Given the description of an element on the screen output the (x, y) to click on. 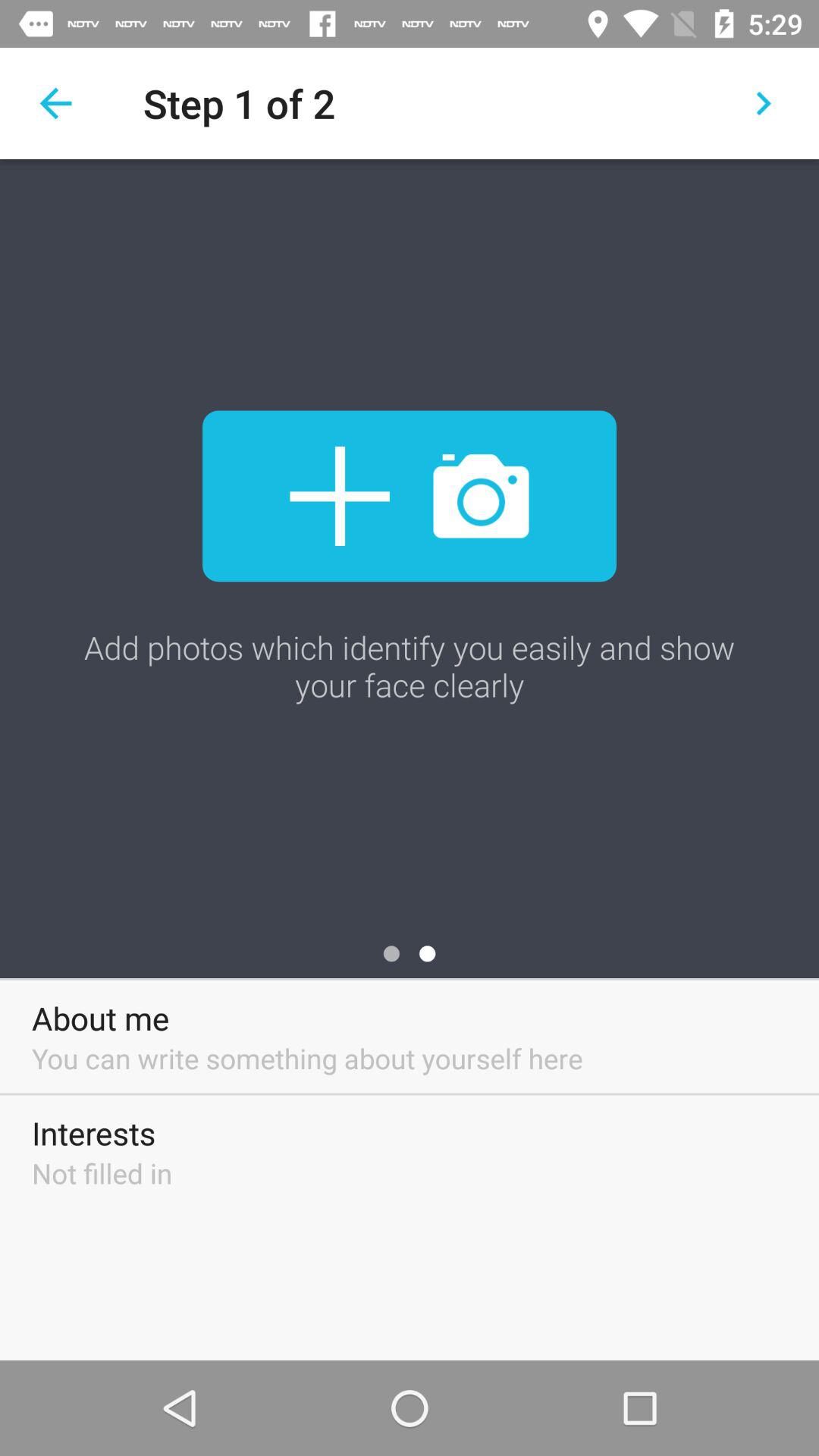
tap the item next to step 1 of item (55, 103)
